Given the description of an element on the screen output the (x, y) to click on. 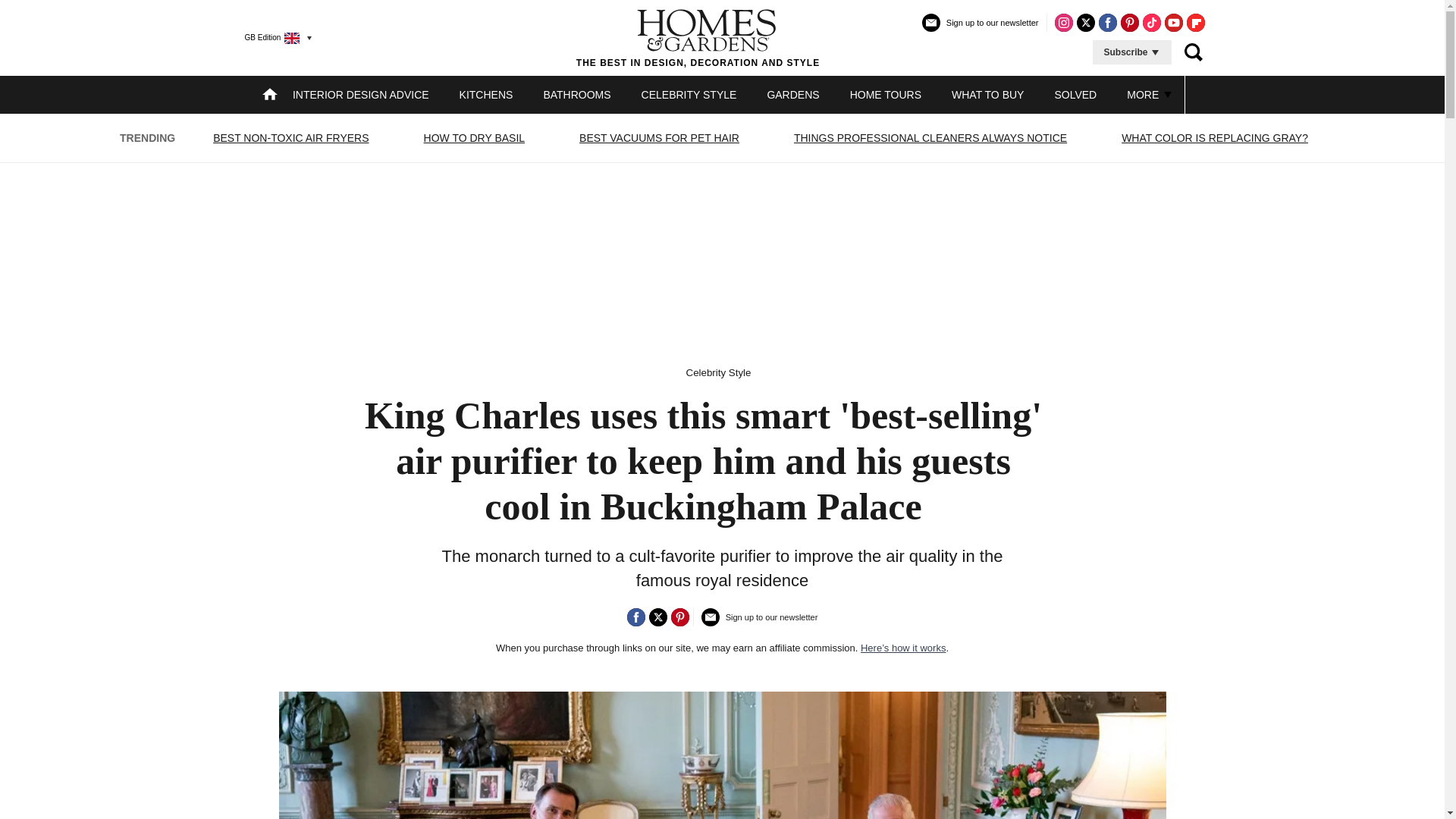
SOLVED (1075, 94)
Celebrity Style (718, 372)
HOME TOURS (885, 94)
CELEBRITY STYLE (689, 94)
HOW TO DRY BASIL (475, 137)
GARDENS (792, 94)
THINGS PROFESSIONAL CLEANERS ALWAYS NOTICE (930, 137)
GB Edition (271, 37)
KITCHENS (486, 94)
BEST VACUUMS FOR PET HAIR (658, 137)
